Given the description of an element on the screen output the (x, y) to click on. 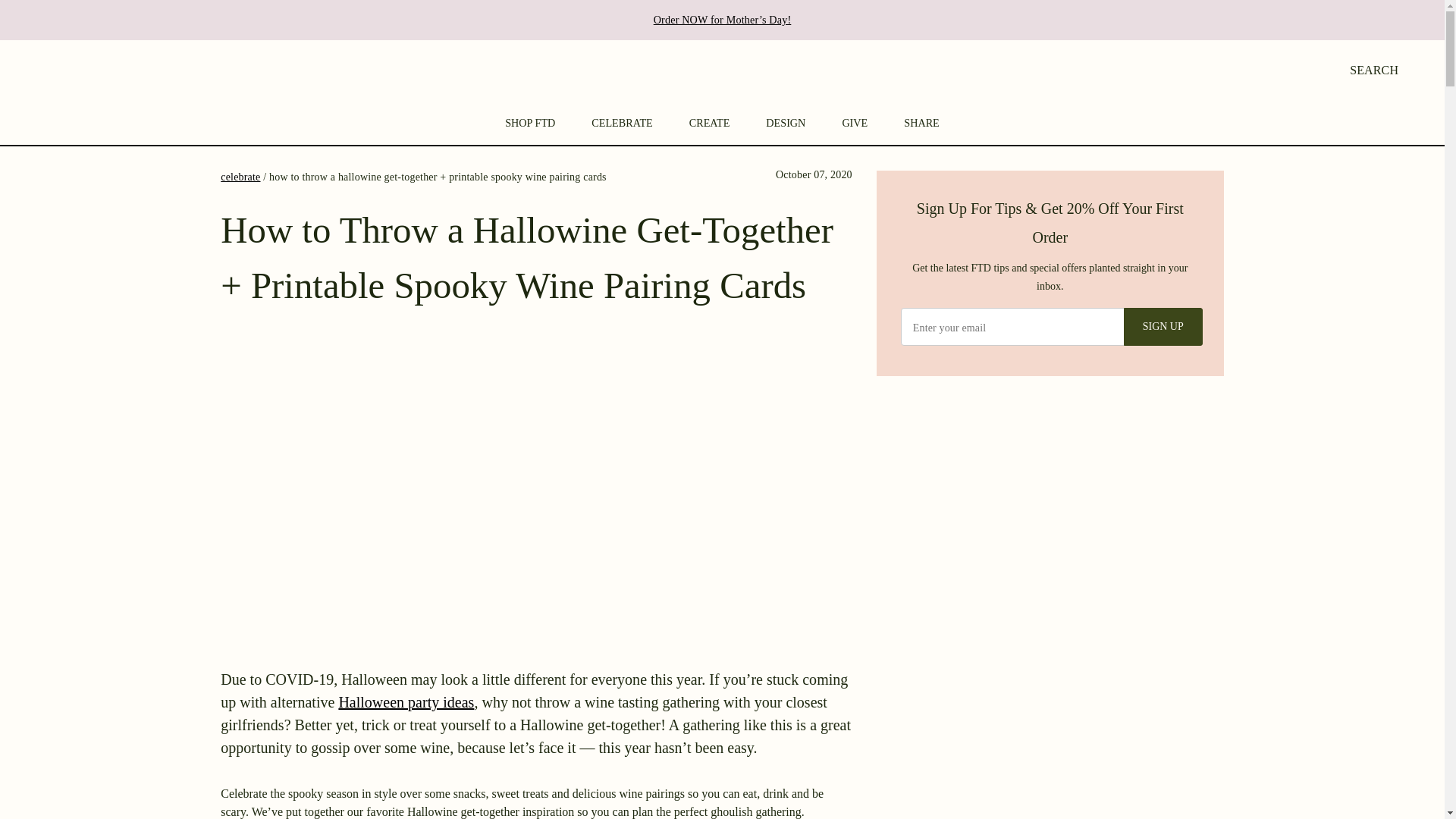
SEARCH (1366, 68)
SHARE (921, 123)
celebrate (240, 176)
Halloween party ideas (405, 701)
SHOP FTD (529, 123)
DESIGN (786, 123)
SIGN UP (1163, 326)
CELEBRATE (621, 123)
GIVE (854, 123)
CREATE (709, 123)
